Given the description of an element on the screen output the (x, y) to click on. 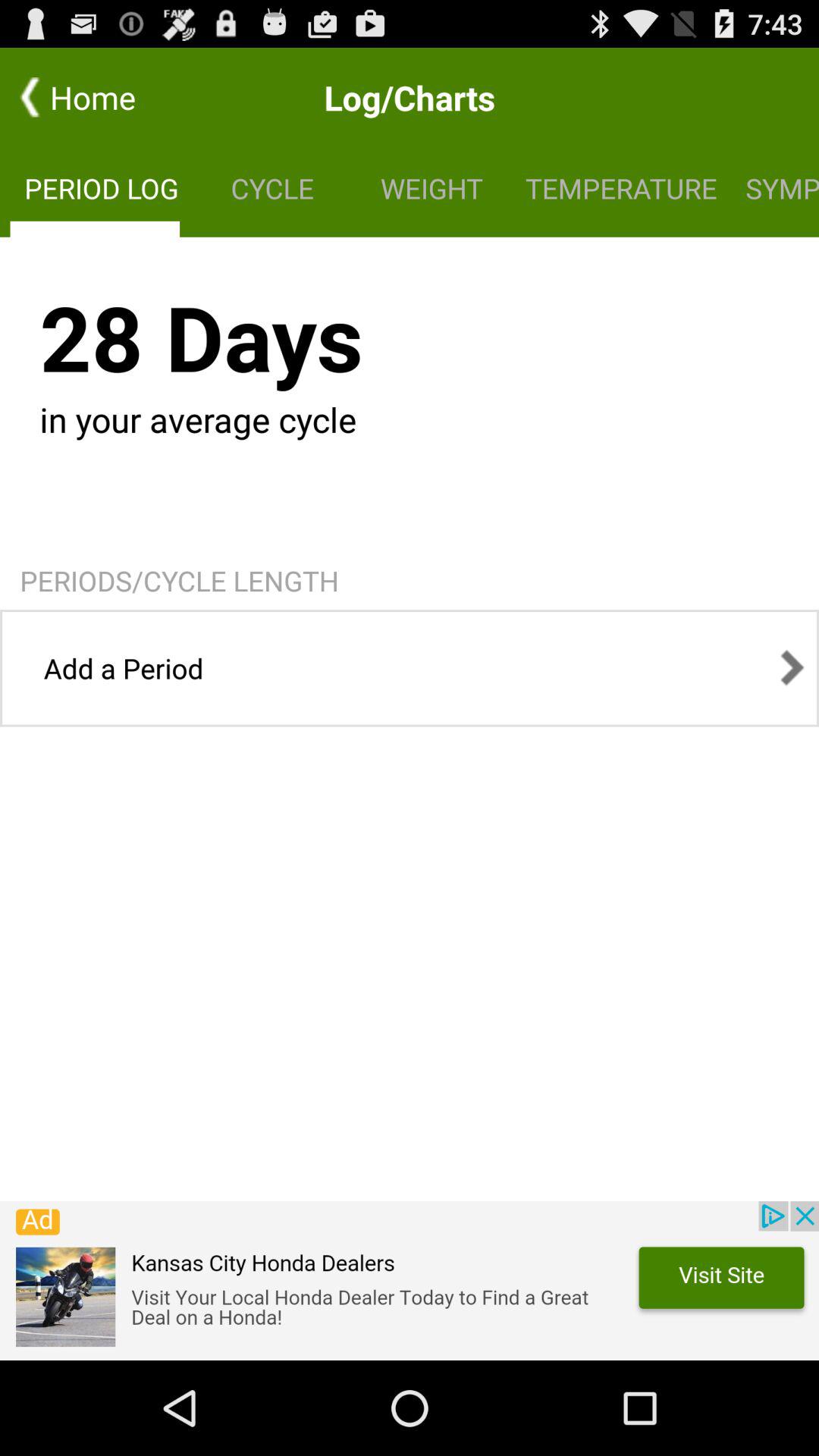
advertisement area (409, 1280)
